Given the description of an element on the screen output the (x, y) to click on. 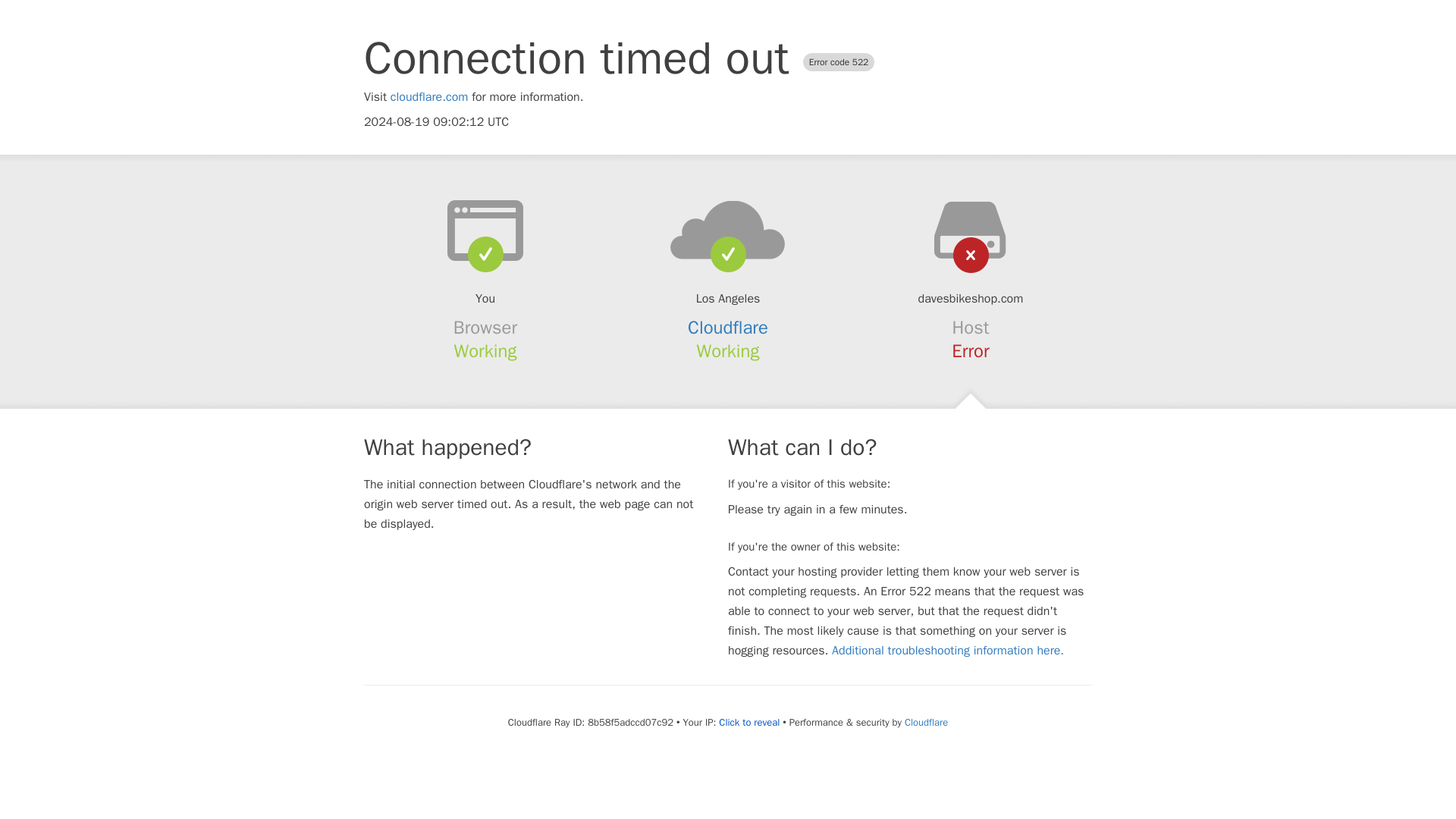
cloudflare.com (429, 96)
Cloudflare (727, 327)
Click to reveal (748, 722)
Cloudflare (925, 721)
Additional troubleshooting information here. (947, 650)
